Given the description of an element on the screen output the (x, y) to click on. 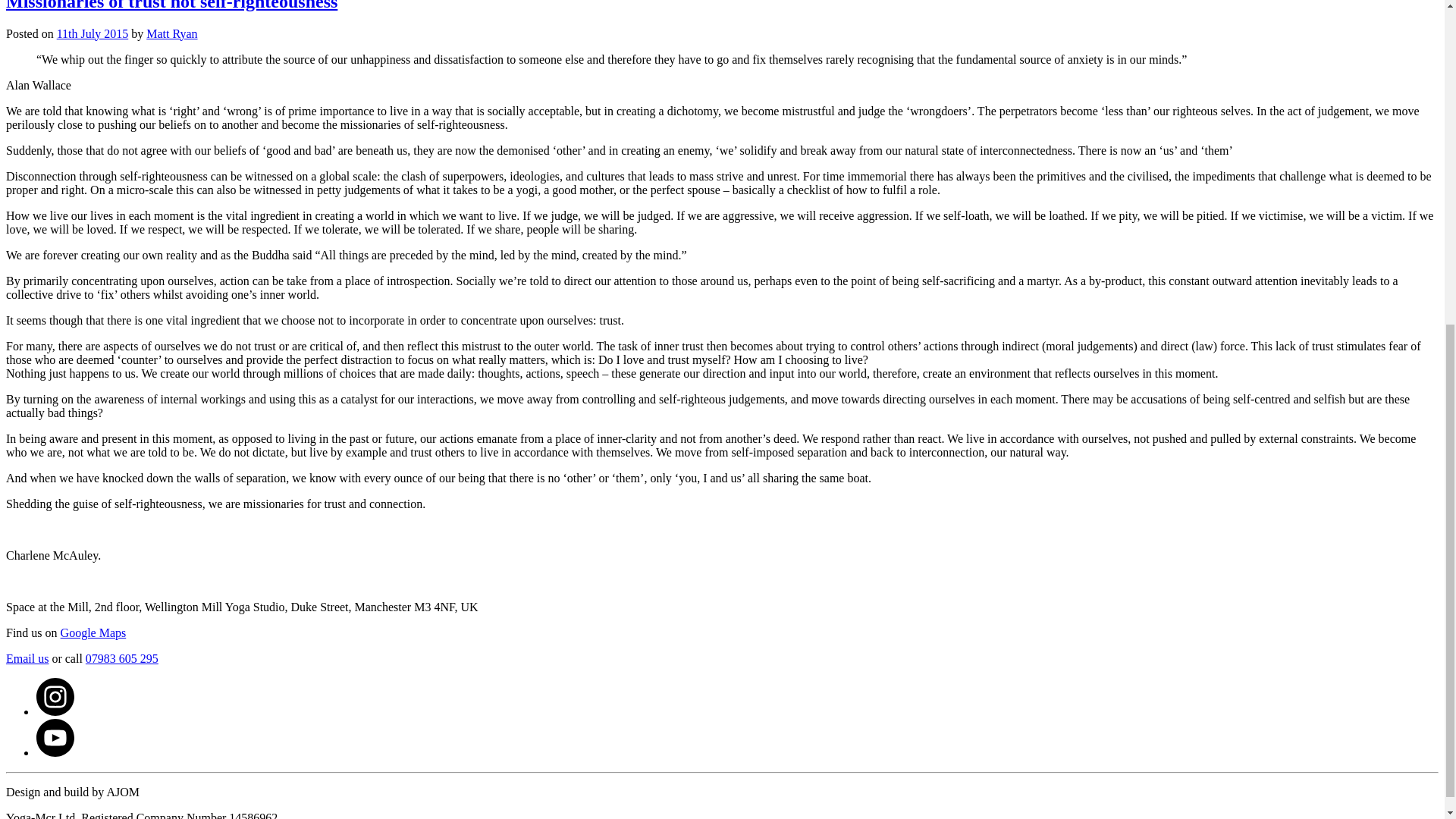
07983 605 295 (121, 657)
Google Maps (93, 631)
Email us (26, 657)
Matt Ryan (171, 32)
Missionaries of trust not self-righteousness (171, 5)
11th July 2015 (92, 32)
